Given the description of an element on the screen output the (x, y) to click on. 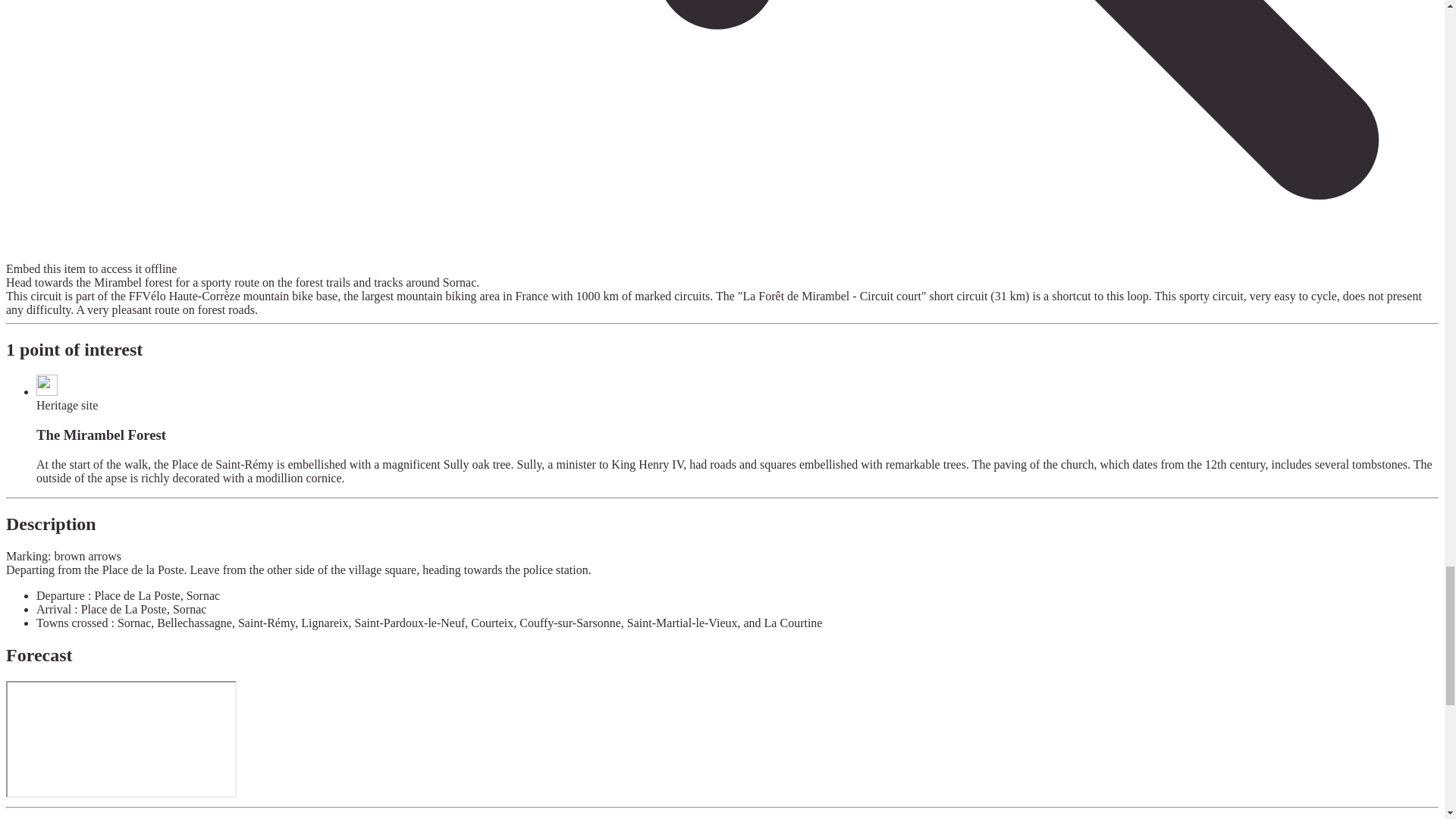
Widget meteofrance (120, 738)
